Given the description of an element on the screen output the (x, y) to click on. 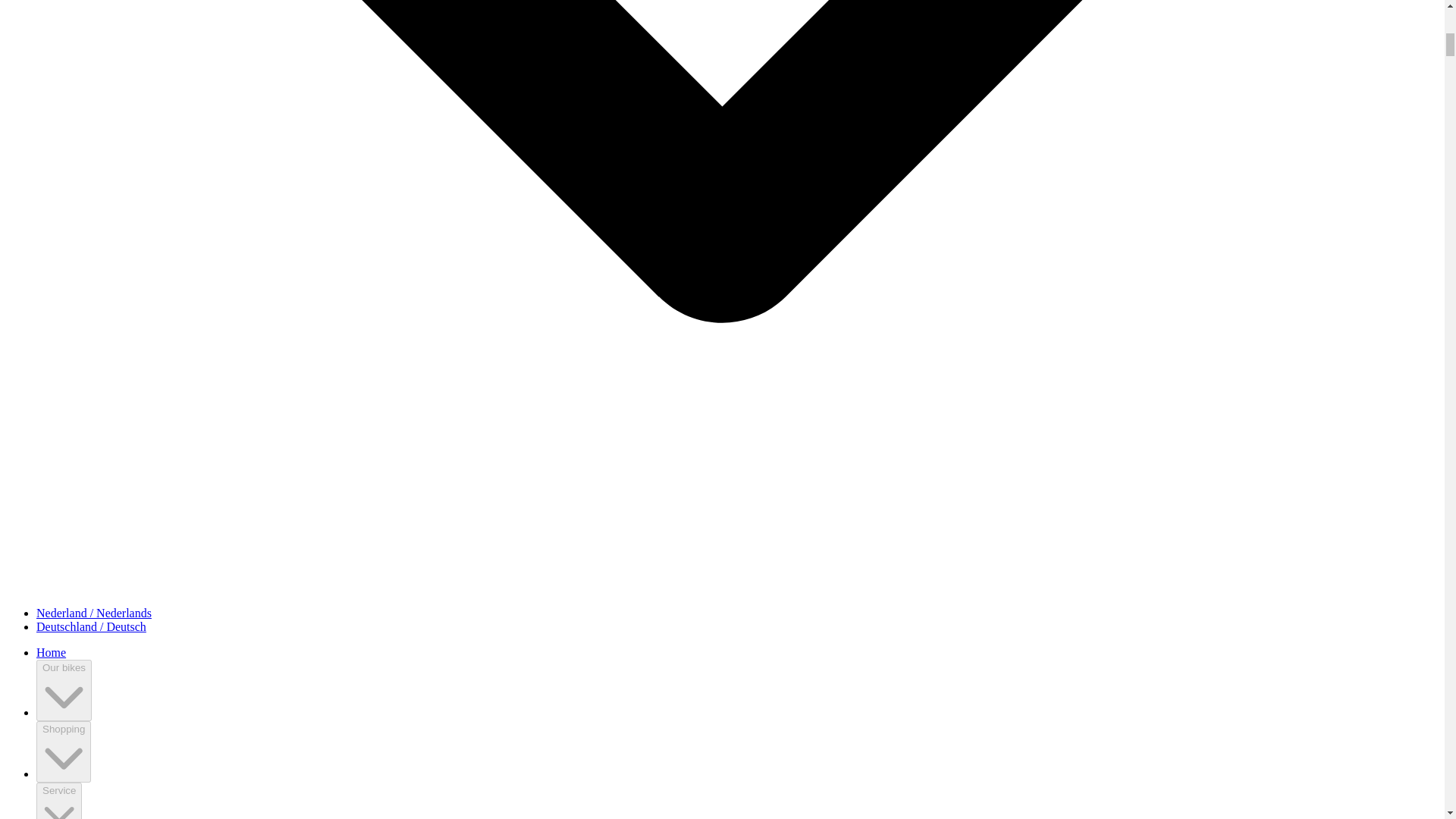
Service (58, 800)
Shopping (63, 751)
Home (50, 652)
Our bikes (63, 690)
